Given the description of an element on the screen output the (x, y) to click on. 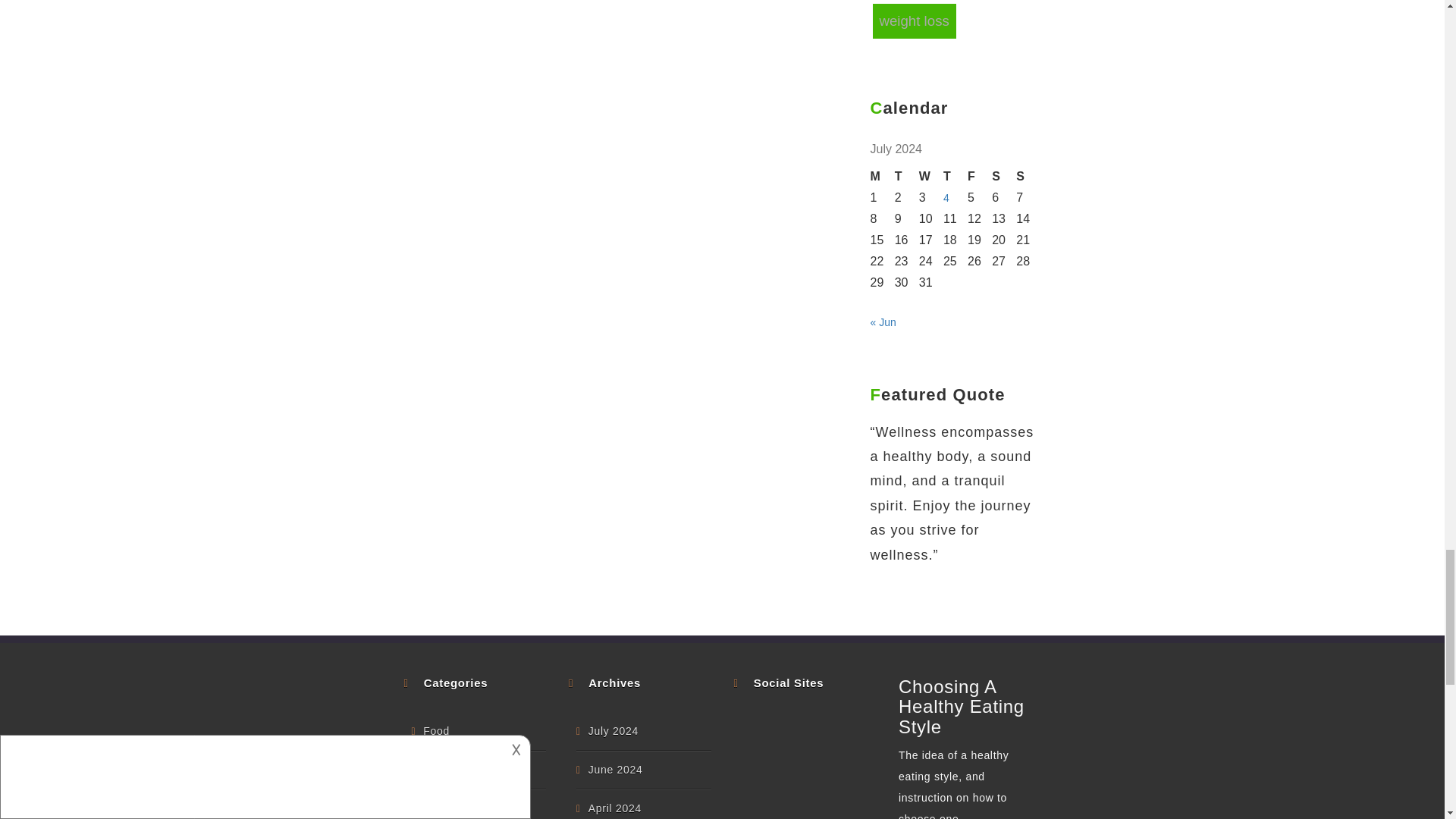
Thursday (955, 176)
Wednesday (930, 176)
Sunday (1028, 176)
Friday (979, 176)
Monday (882, 176)
Saturday (1003, 176)
Tuesday (906, 176)
